Given the description of an element on the screen output the (x, y) to click on. 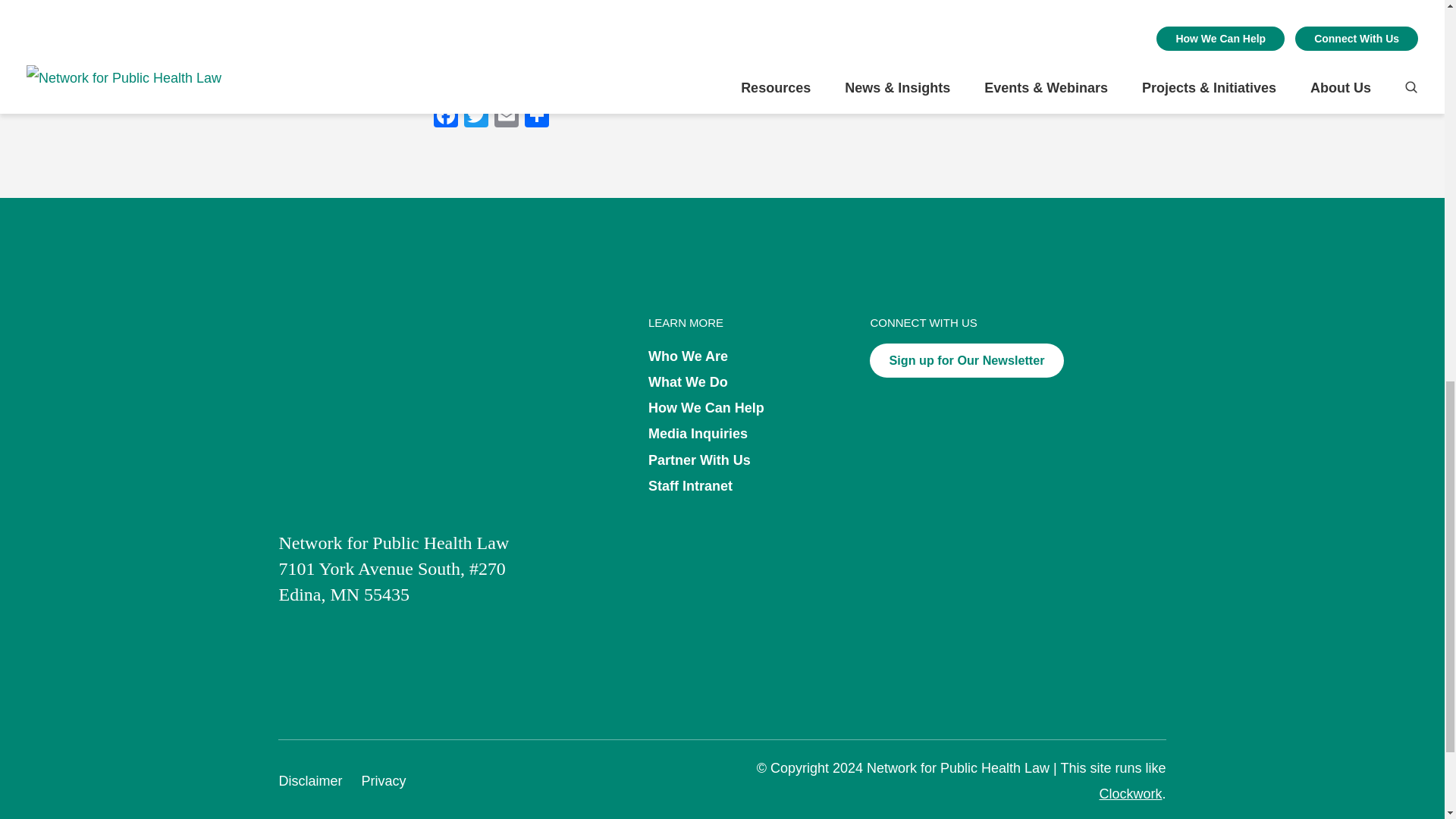
Email (506, 117)
Facebook (445, 117)
Twitter (476, 117)
